Given the description of an element on the screen output the (x, y) to click on. 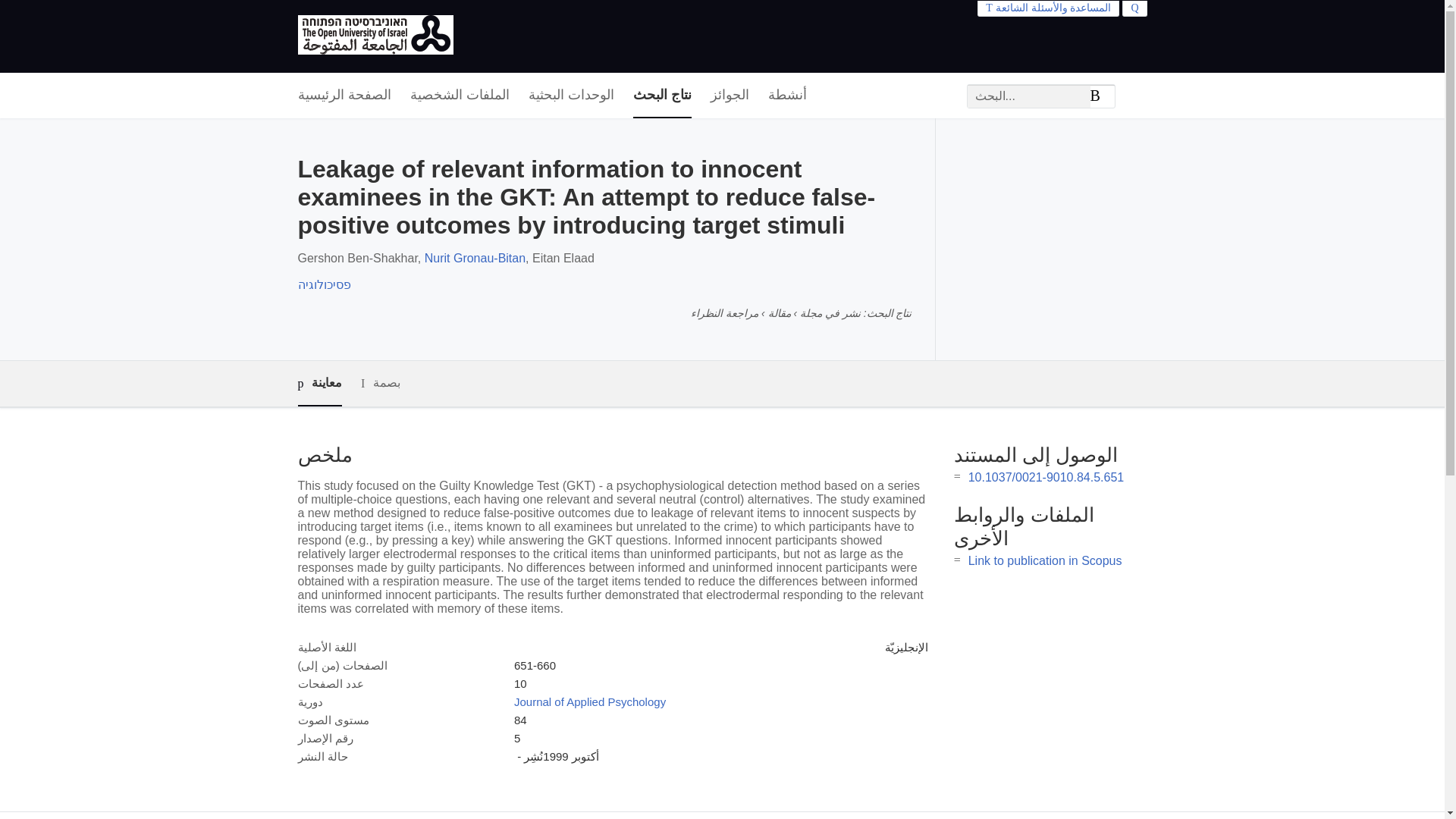
Nurit Gronau-Bitan (475, 257)
Link to publication in Scopus (1045, 560)
Journal of Applied Psychology (589, 701)
